Given the description of an element on the screen output the (x, y) to click on. 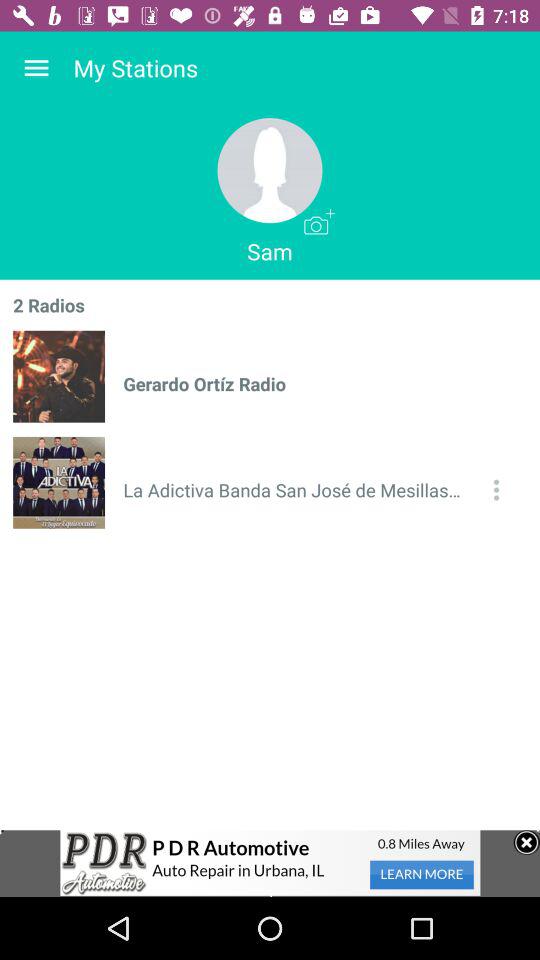
scroll until the la adictiva banda app (296, 489)
